Given the description of an element on the screen output the (x, y) to click on. 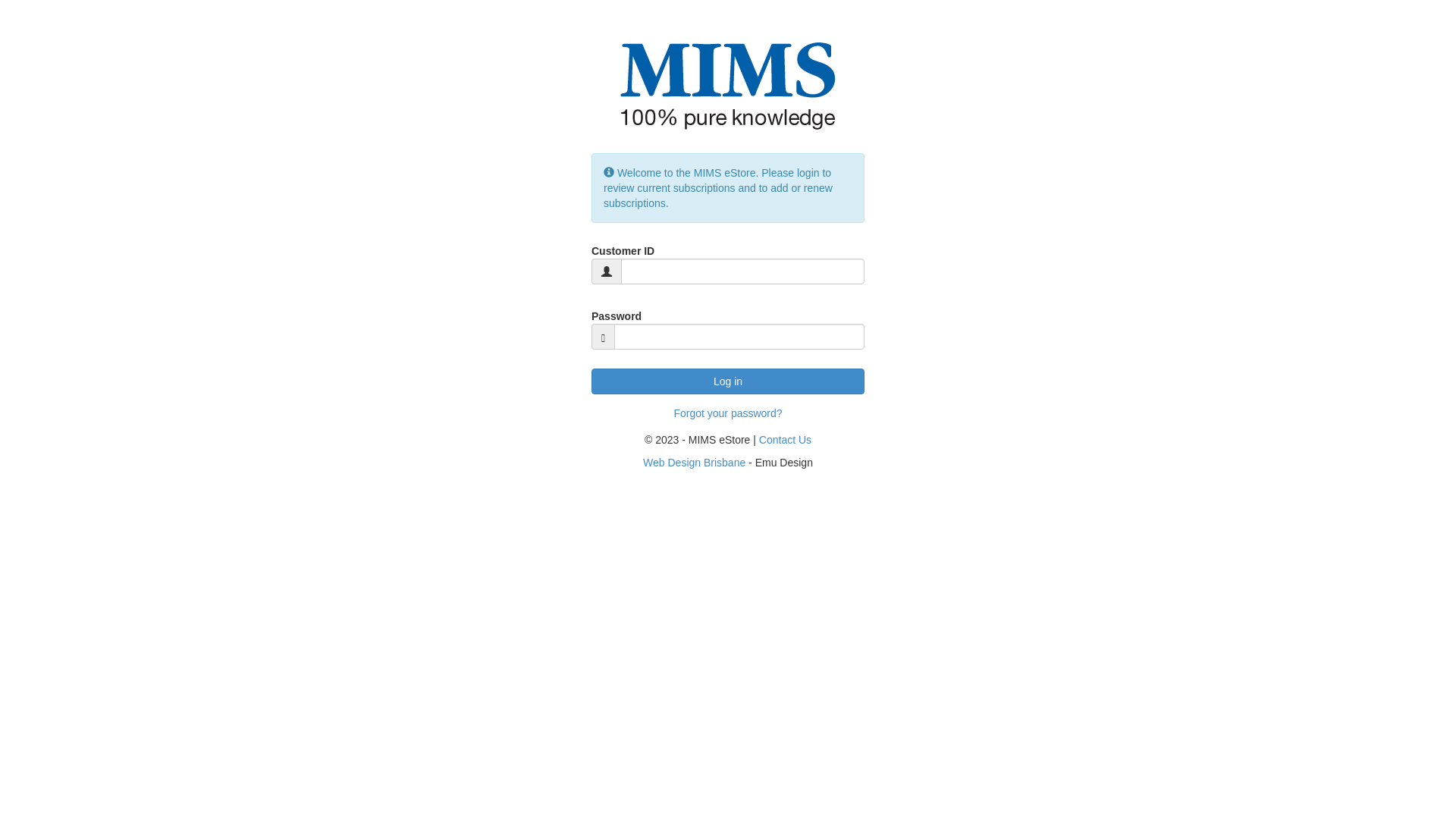
Log in Element type: text (727, 381)
Web Design Brisbane Element type: text (694, 462)
Forgot your password? Element type: text (727, 413)
Contact Us Element type: text (785, 439)
